Given the description of an element on the screen output the (x, y) to click on. 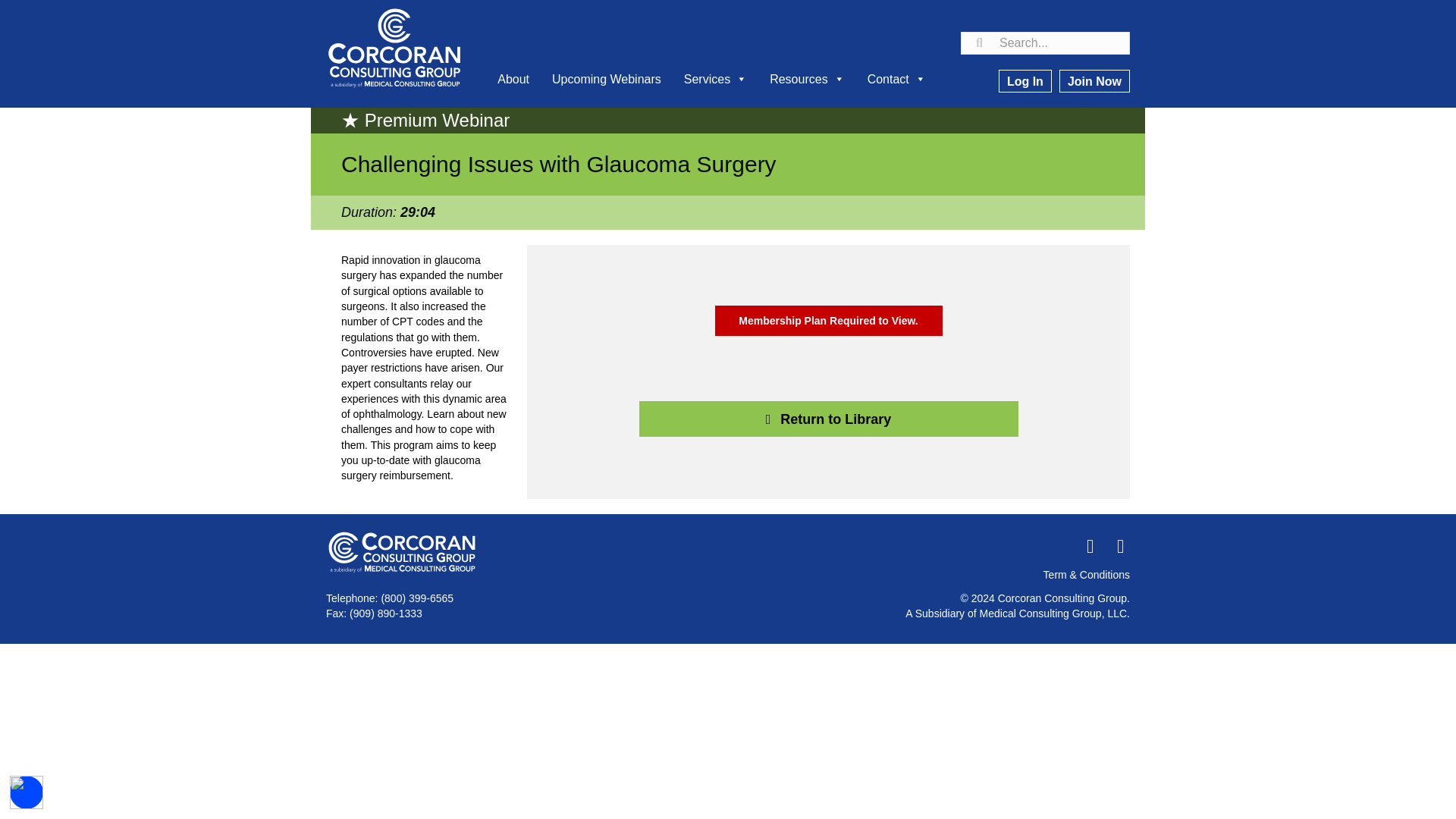
LinkedIn (1119, 546)
Facebook (1089, 546)
Contact (896, 79)
Corcoran Stacked Logo 2024-white (394, 48)
Resources (806, 79)
About (513, 79)
Corcoran Logo 2024 - white (401, 552)
Join Now (1094, 80)
Log In (1024, 80)
Upcoming Webinars (606, 79)
